Given the description of an element on the screen output the (x, y) to click on. 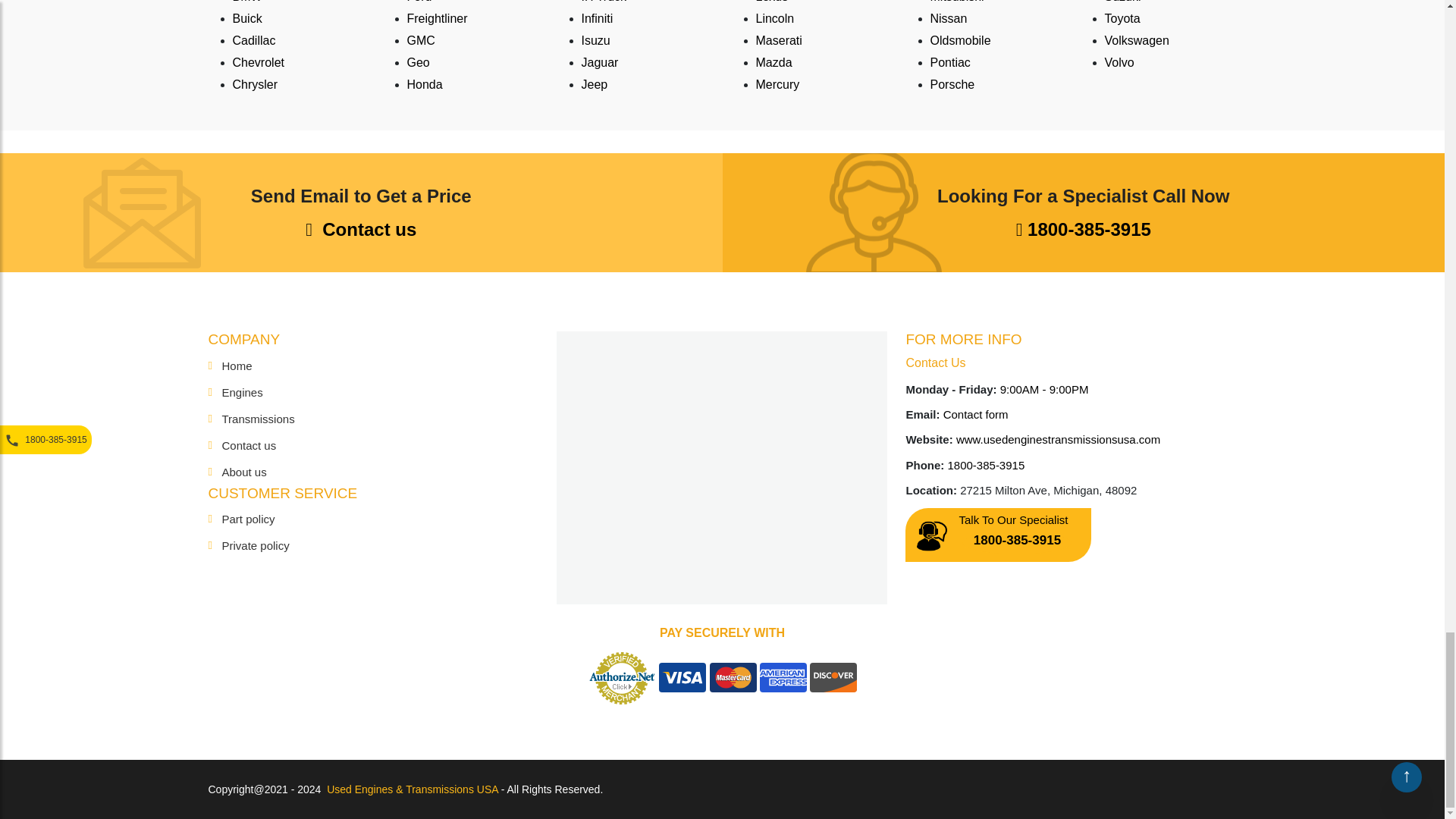
Chevrolet (257, 62)
Cadillac (253, 40)
BMW (246, 1)
Chrysler (254, 83)
Buick (246, 18)
